Given the description of an element on the screen output the (x, y) to click on. 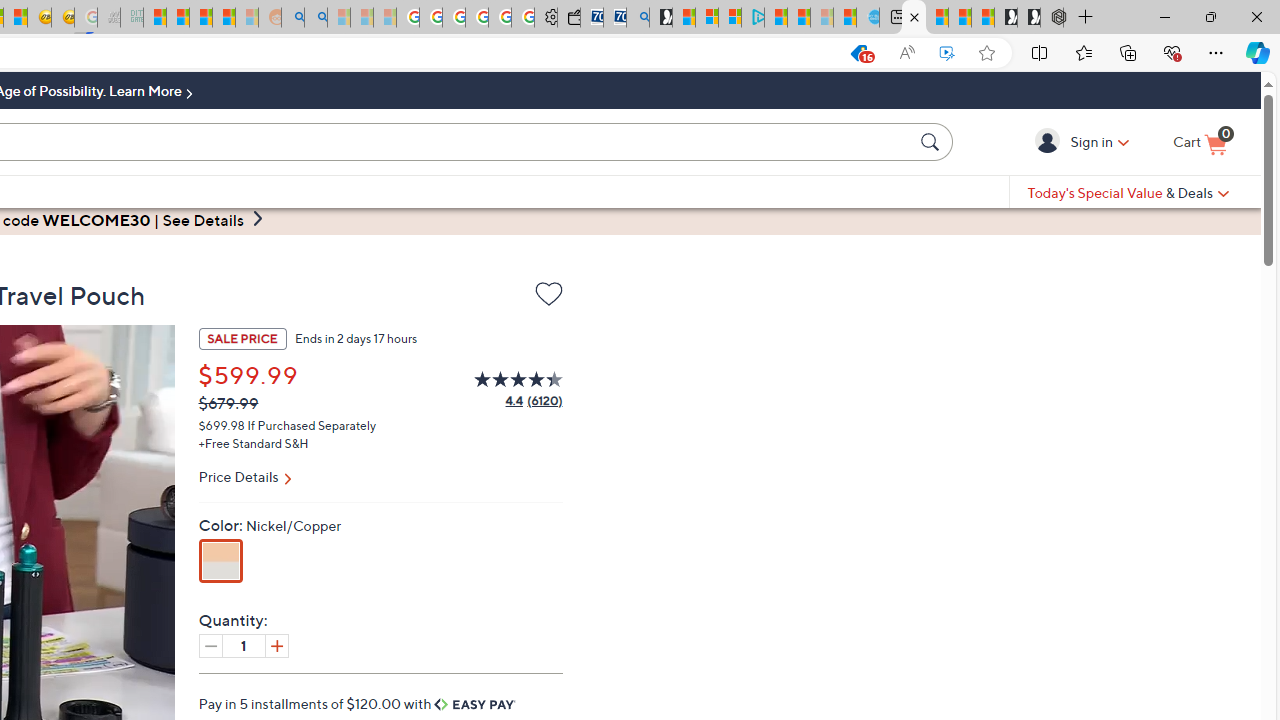
Price Details (380, 479)
Wallet (568, 17)
Easy Pay (475, 703)
Nordace - Nordace Siena Is Not An Ordinary Backpack (1051, 17)
